Given the description of an element on the screen output the (x, y) to click on. 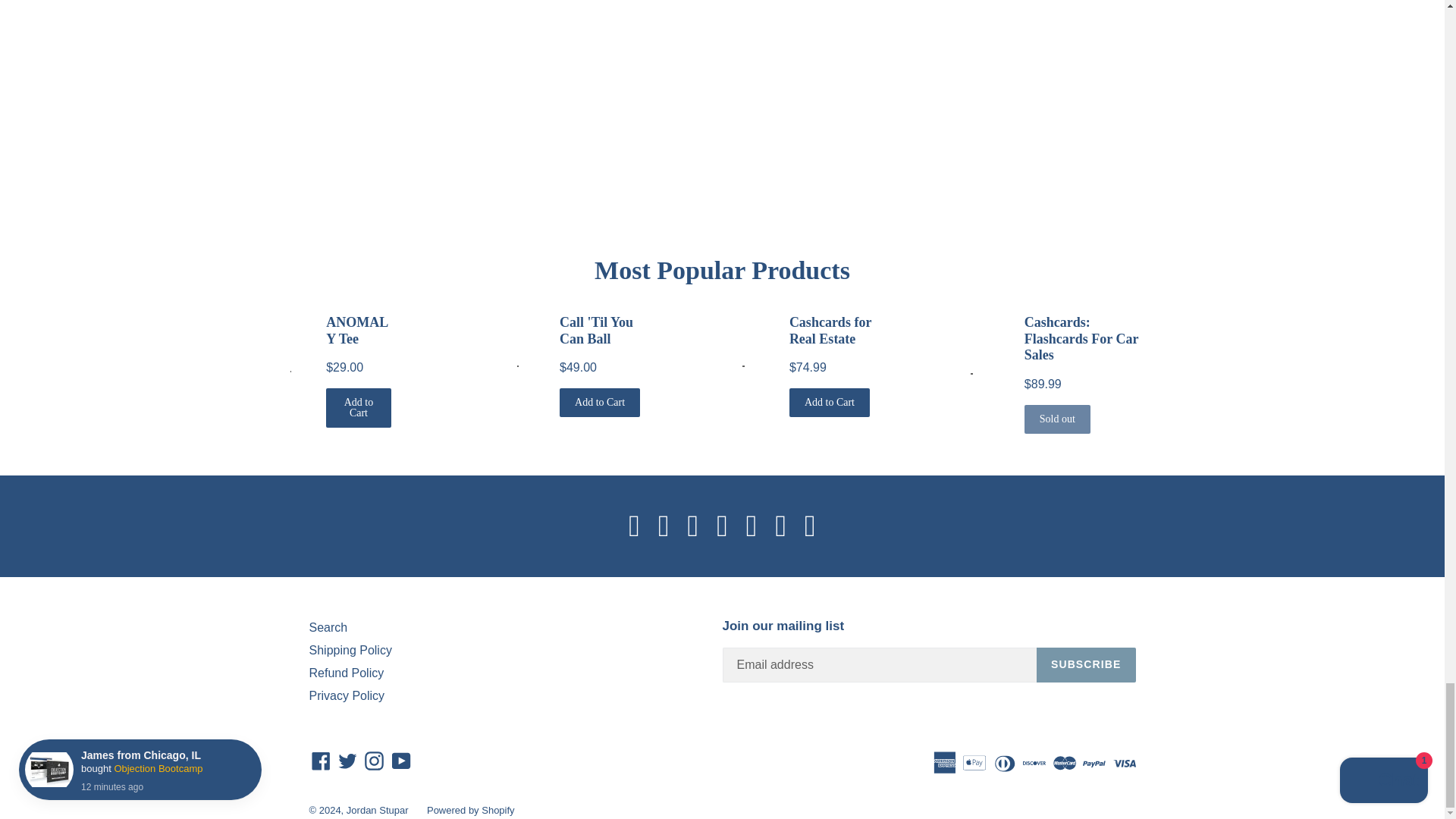
Jordan Stupar on Facebook (320, 760)
Jordan Stupar on YouTube (401, 760)
Jordan Stupar on Twitter (347, 760)
Jordan Stupar on Instagram (373, 760)
